Given the description of an element on the screen output the (x, y) to click on. 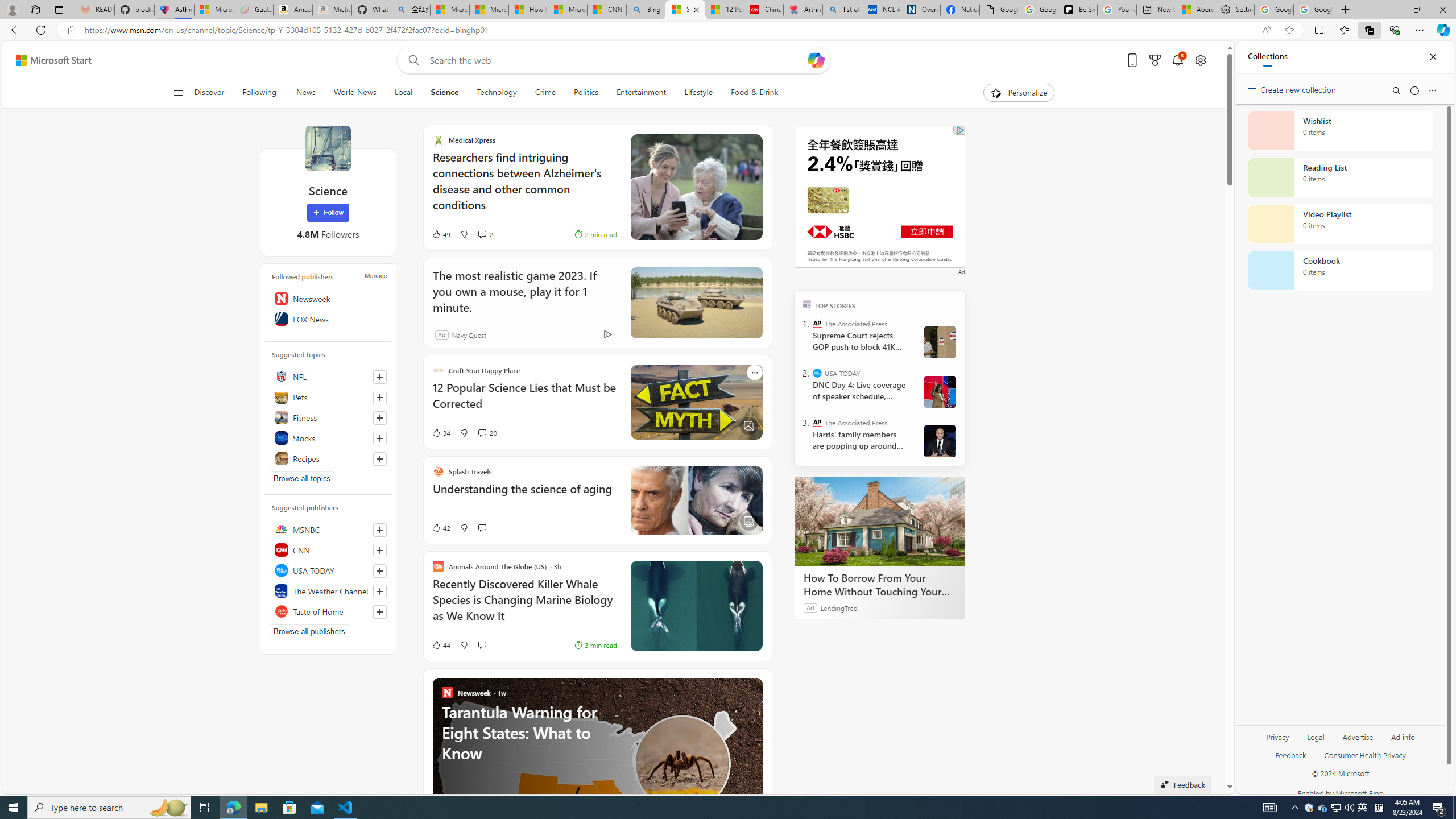
Taste of Home (327, 610)
TOP (806, 302)
Crime (545, 92)
Web search (411, 60)
Navy.Quest (456, 334)
Crime (544, 92)
Manage (375, 275)
Newsweek (327, 298)
Google Analytics Opt-out Browser Add-on Download Page (999, 9)
